Given the description of an element on the screen output the (x, y) to click on. 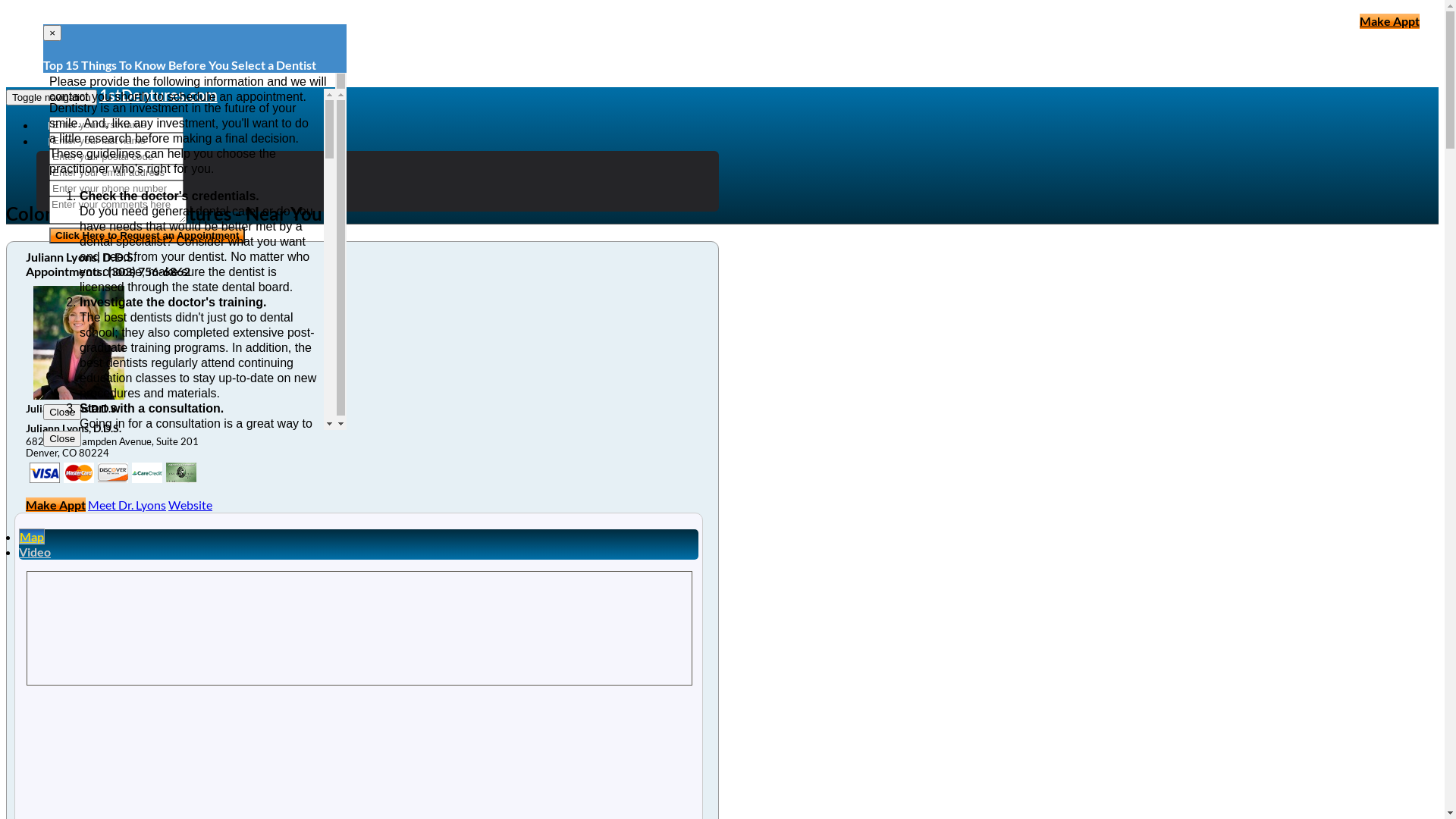
Toggle navigation Element type: text (51, 97)
Dentures Articles Element type: text (86, 141)
Prosthodontics Element type: text (106, 157)
Make Appt Element type: text (1389, 20)
Close Element type: text (62, 412)
False Teeth Element type: text (95, 203)
Make Appt Element type: text (55, 504)
my title Element type: hover (78, 472)
Video Element type: text (34, 551)
Map Element type: text (31, 536)
Home Element type: text (60, 125)
Prosthodontist Element type: text (106, 188)
Dentures Care Element type: text (104, 173)
Website Element type: text (190, 504)
my title Element type: hover (146, 472)
my title Element type: hover (181, 472)
Meet Dr. Lyons Element type: text (126, 504)
my title Element type: hover (112, 472)
1stDentures.com Element type: text (158, 94)
my title Element type: hover (44, 472)
Close Element type: text (62, 438)
